Given the description of an element on the screen output the (x, y) to click on. 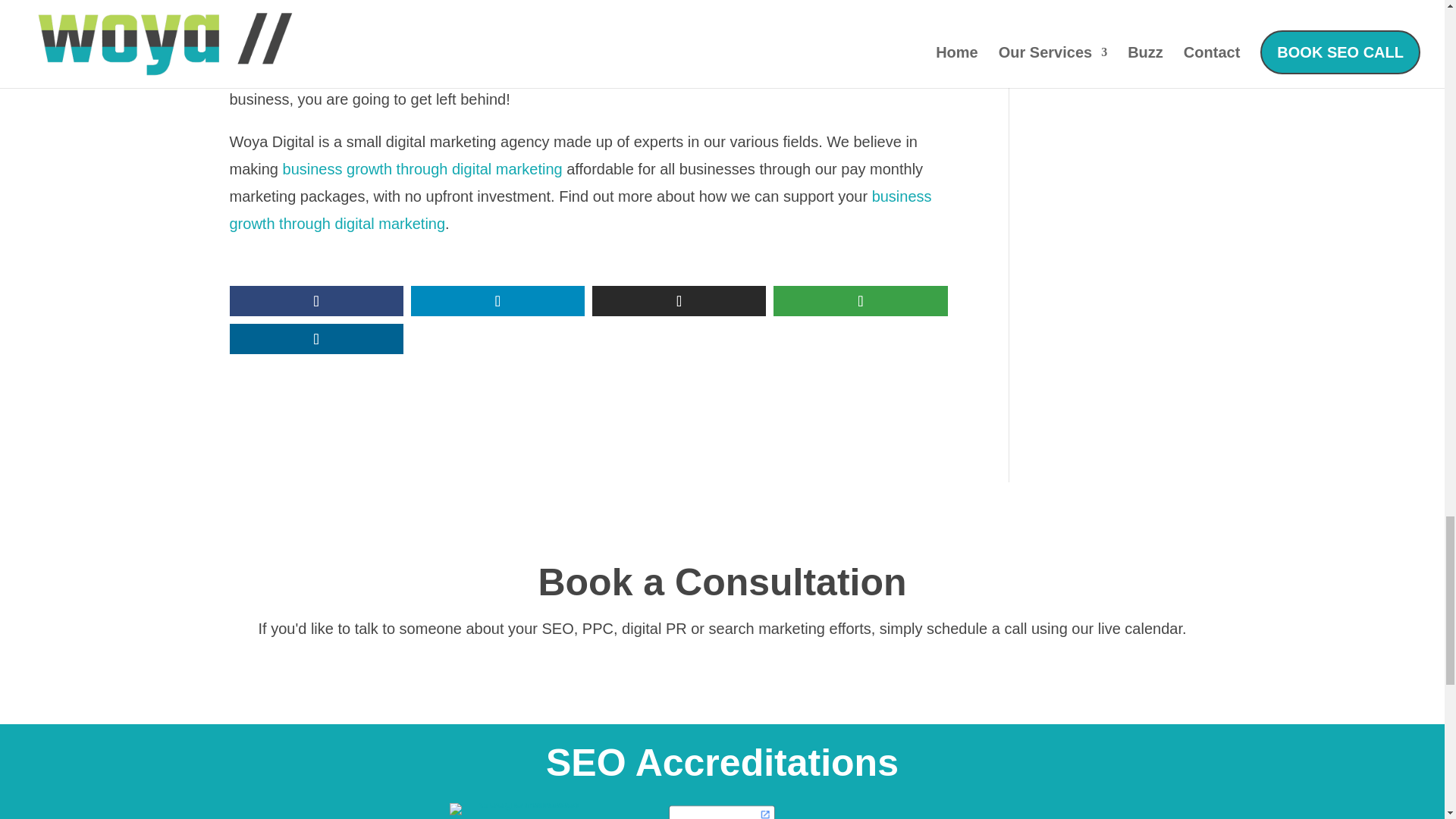
business growth through digital marketing (422, 168)
business growth through digital marketing (579, 209)
Best SEO Agency London (513, 808)
